Given the description of an element on the screen output the (x, y) to click on. 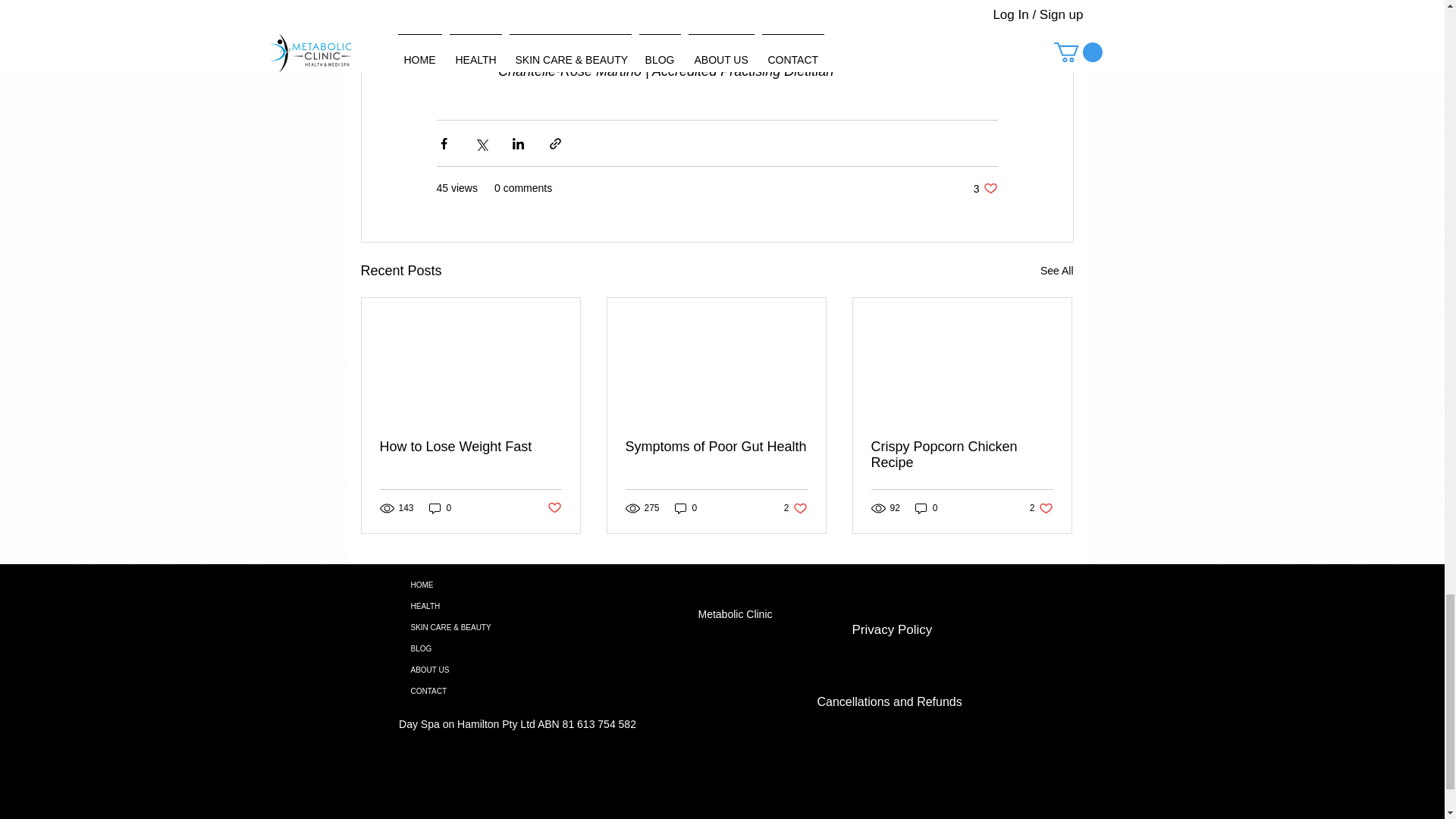
Post not marked as liked (554, 508)
0 (440, 508)
Symptoms of Poor Gut Health (796, 508)
How to Lose Weight Fast (715, 446)
Crispy Popcorn Chicken Recipe (469, 446)
See All (961, 454)
0 (1040, 508)
